Given the description of an element on the screen output the (x, y) to click on. 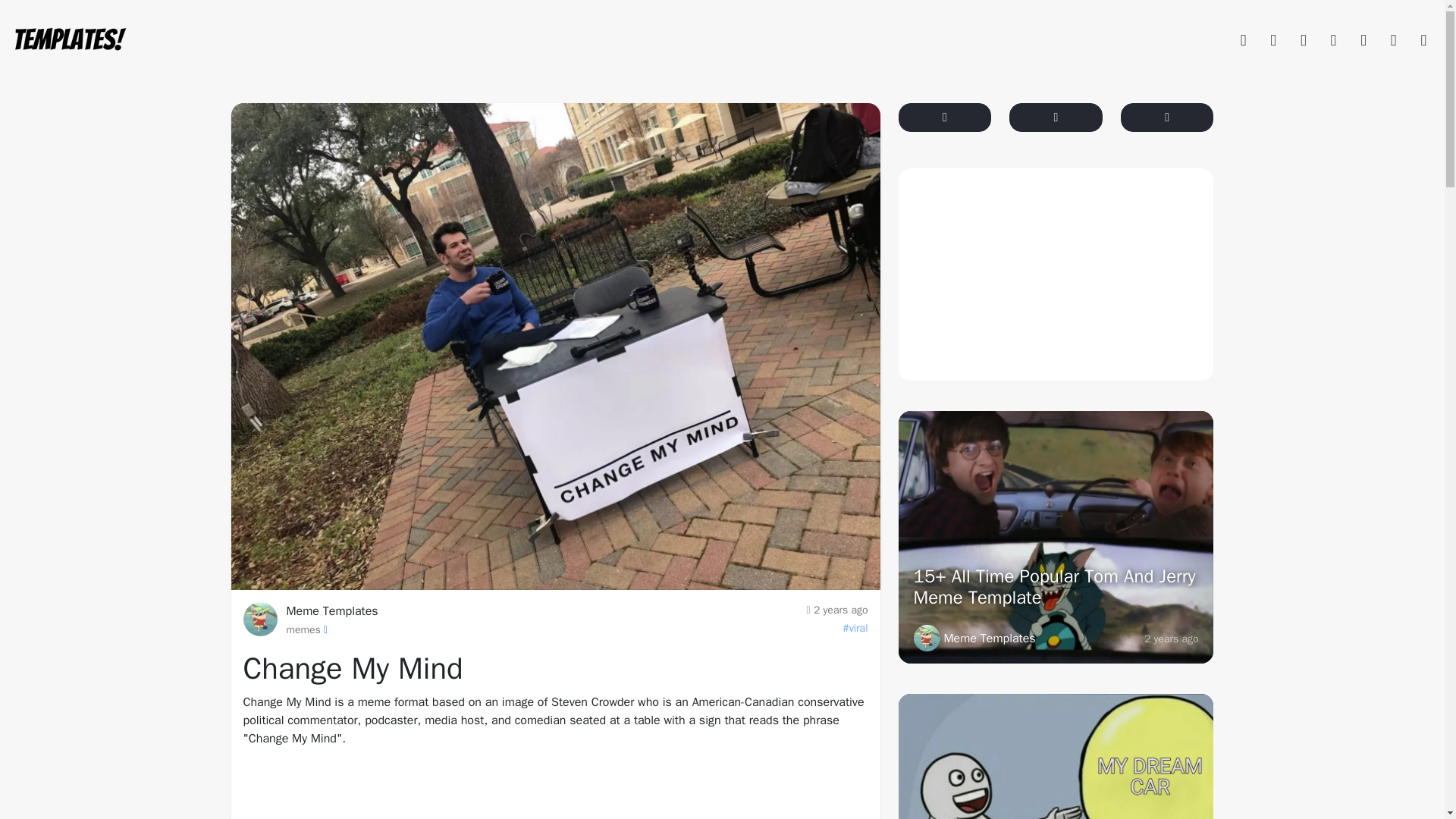
Meme Templates (332, 611)
Advertisement (1055, 274)
Meme Templates (973, 637)
